Given the description of an element on the screen output the (x, y) to click on. 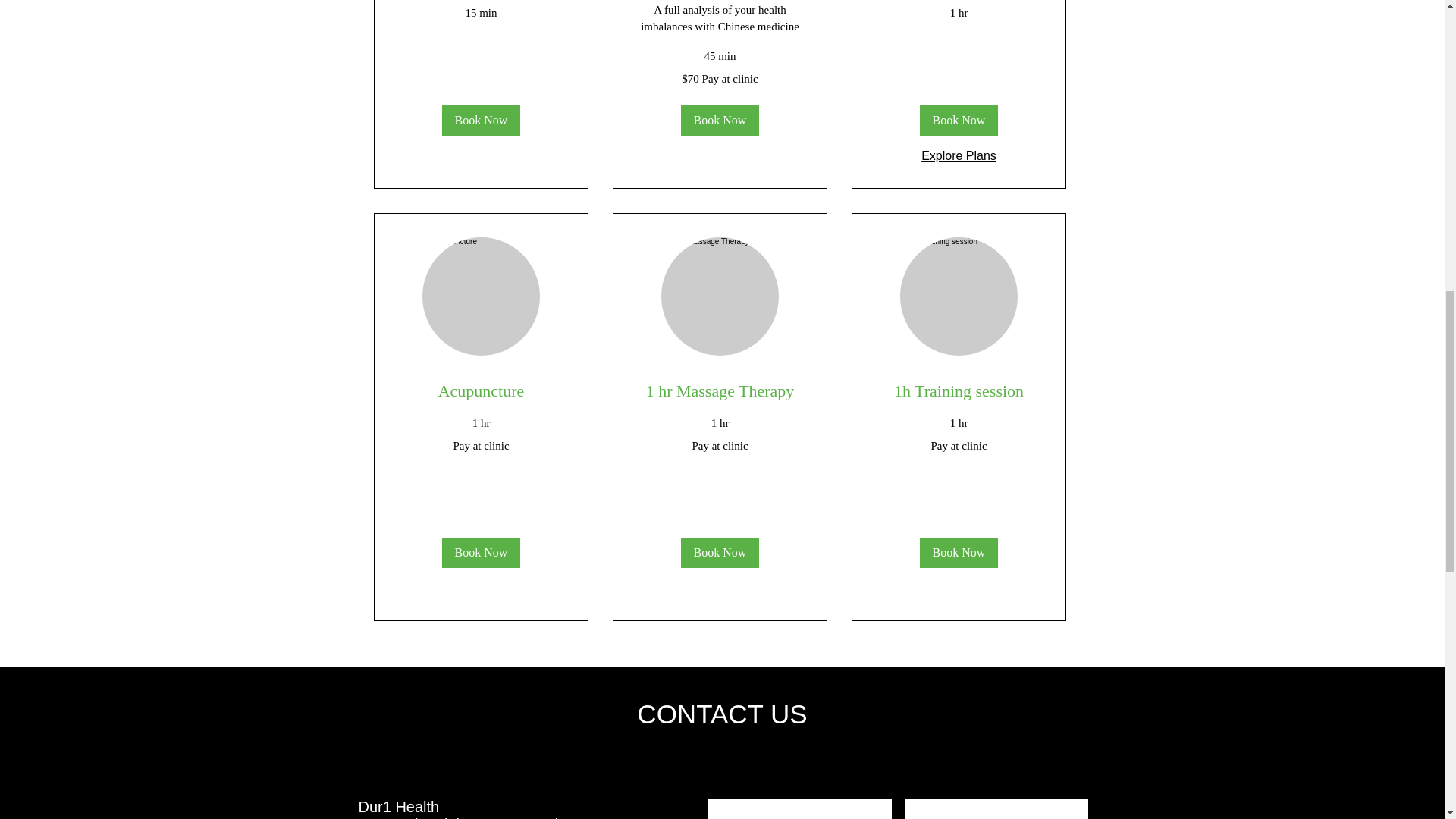
Book Now (480, 552)
Book Now (718, 552)
Dur (369, 806)
1 hr Massage Therapy (720, 391)
Book Now (957, 552)
Explore Plans (958, 156)
Acupuncture (480, 391)
Book Now (718, 120)
Book Now (480, 120)
Book Now (957, 120)
1h Training session (958, 391)
